Given the description of an element on the screen output the (x, y) to click on. 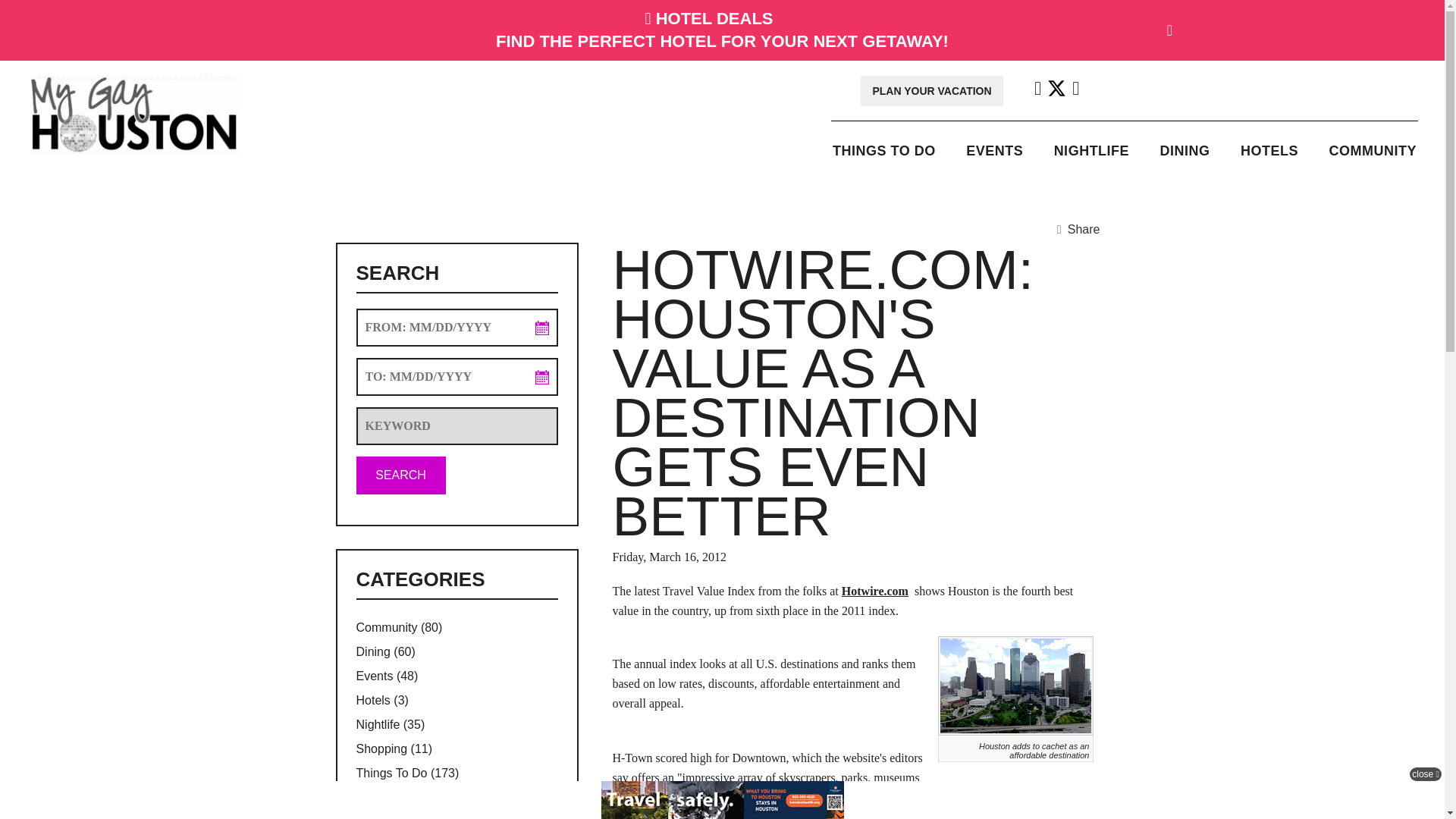
Twitter (1055, 90)
Facebook (1037, 90)
FIND THE PERFECT HOTEL FOR YOUR NEXT GETAWAY! (722, 40)
Things to Do (884, 150)
EVENTS (994, 150)
HOTEL DEALS (714, 18)
Plan Your Vacation (931, 91)
Events (994, 150)
THINGS TO DO (884, 150)
YouTube (1074, 90)
PLAN YOUR VACATION (931, 91)
